Given the description of an element on the screen output the (x, y) to click on. 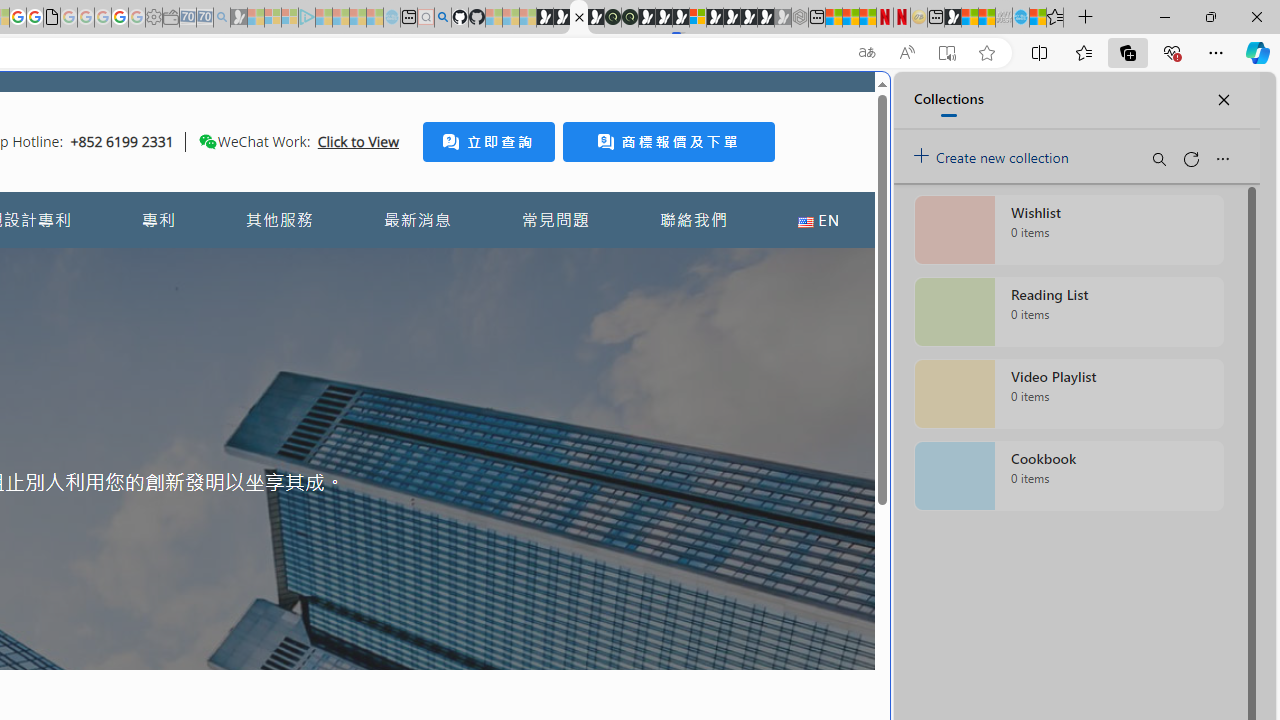
Settings - Sleeping (153, 17)
Class: desktop (207, 141)
Future Focus Report 2024 (629, 17)
Services - Maintenance | Sky Blue Bikes - Sky Blue Bikes (1020, 17)
